Given the description of an element on the screen output the (x, y) to click on. 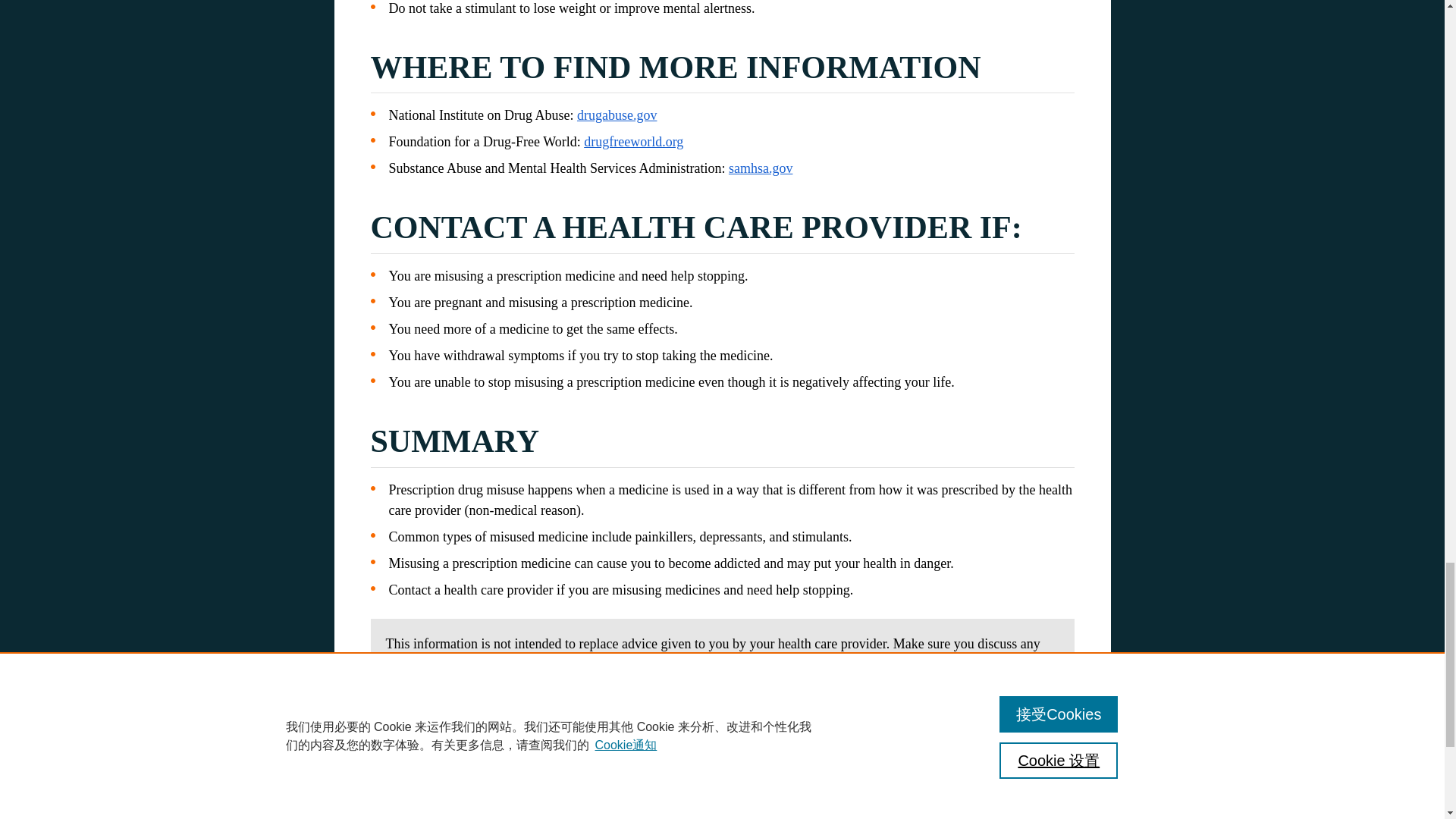
drugfreeworld.org (632, 141)
samhsa.gov (761, 168)
drugabuse.gov (616, 114)
